Given the description of an element on the screen output the (x, y) to click on. 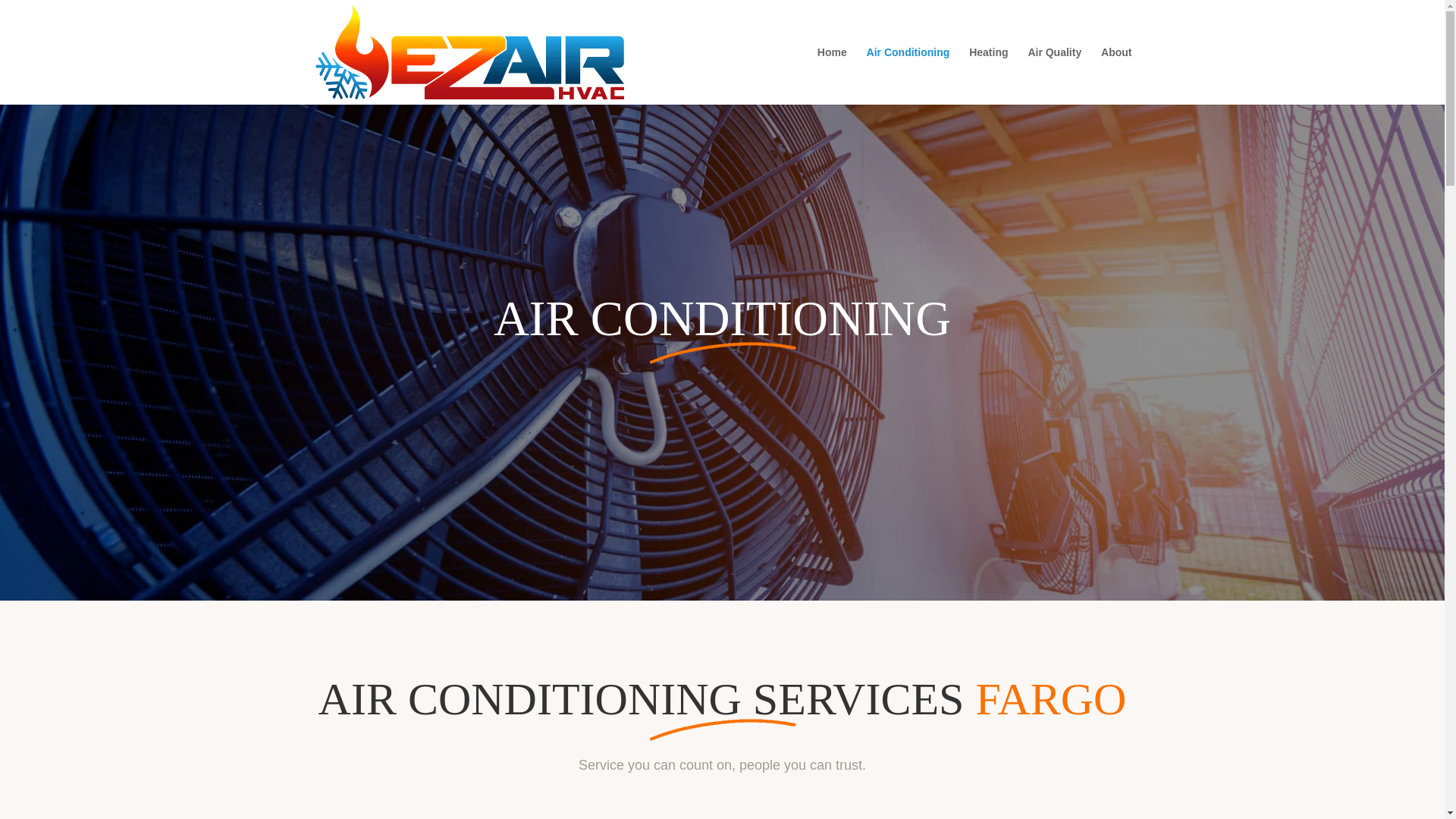
industrial-103-2 (721, 350)
Air Quality (1054, 75)
Air Conditioning (908, 75)
